Given the description of an element on the screen output the (x, y) to click on. 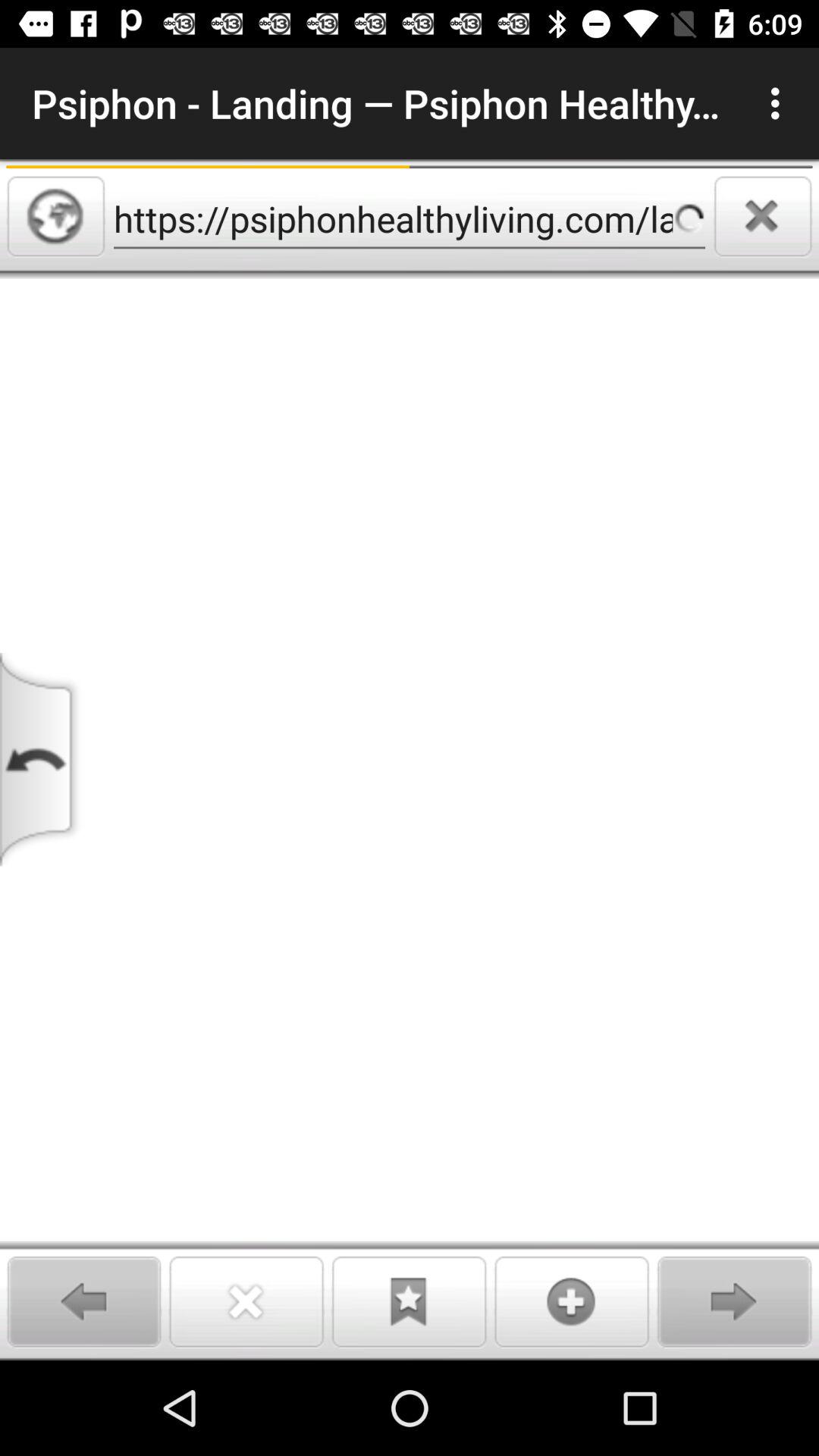
add option (571, 1301)
